Given the description of an element on the screen output the (x, y) to click on. 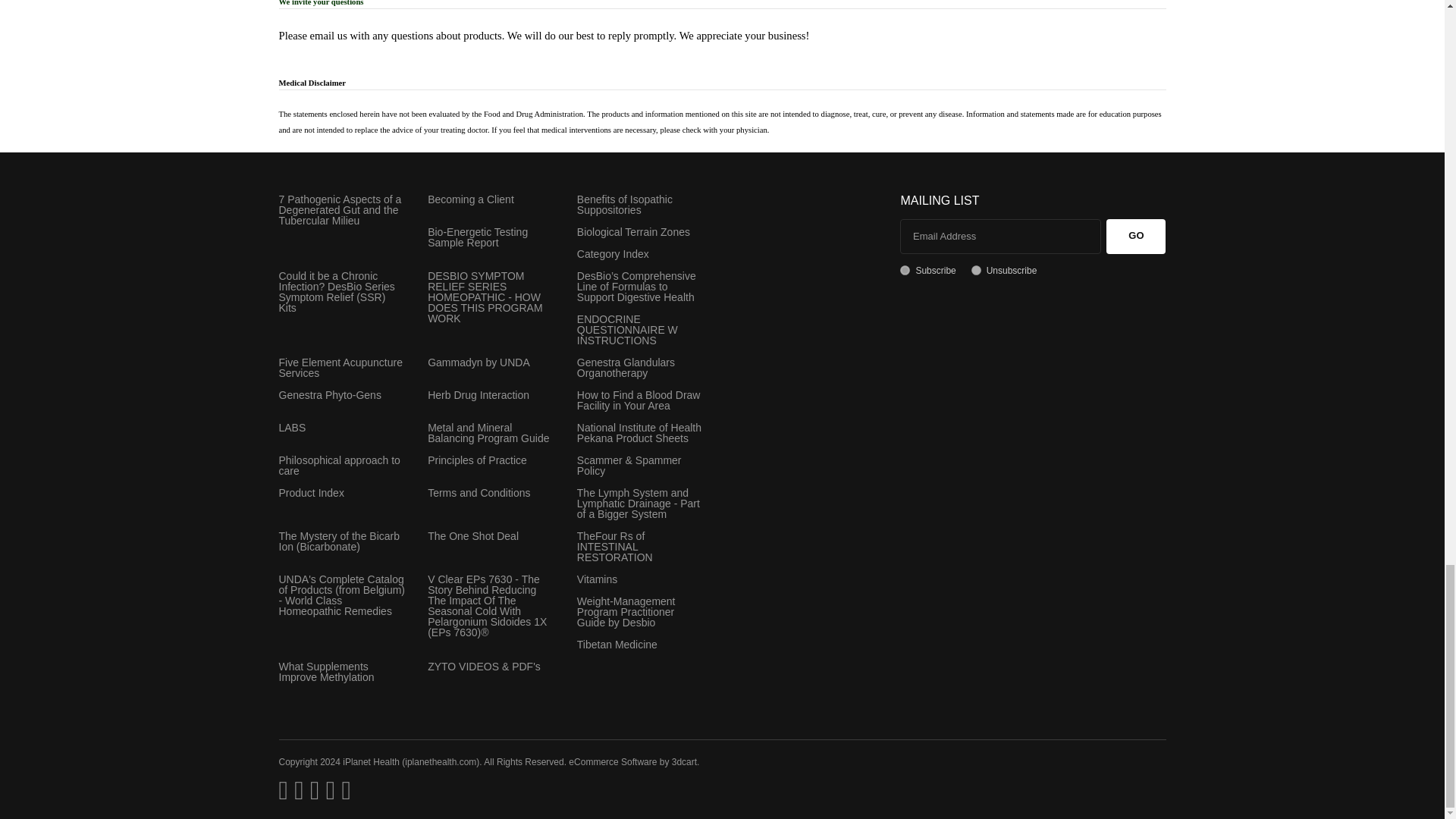
0 (976, 270)
1 (904, 270)
